Given the description of an element on the screen output the (x, y) to click on. 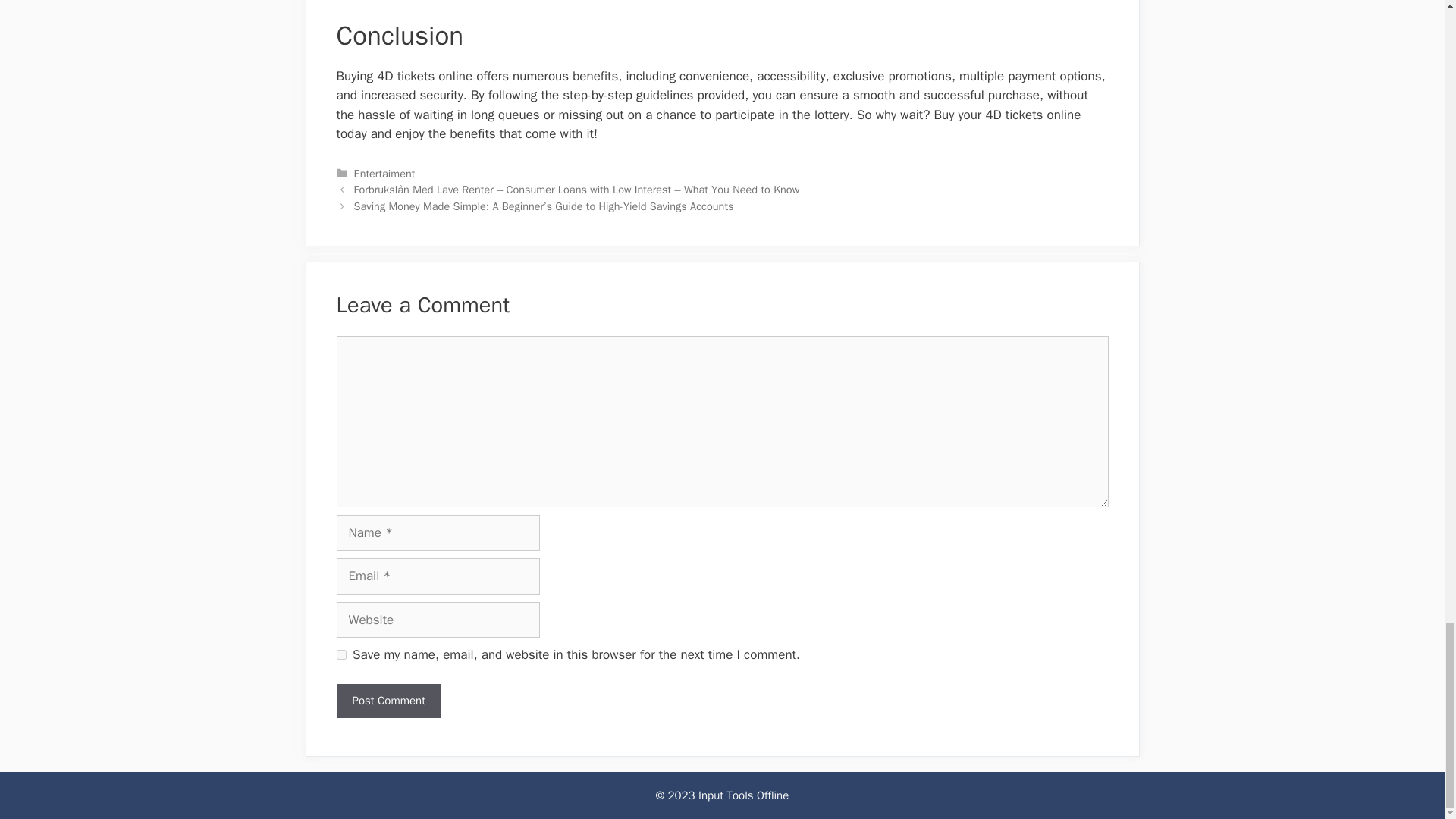
Post Comment (388, 700)
yes (341, 655)
Entertaiment (383, 173)
